Given the description of an element on the screen output the (x, y) to click on. 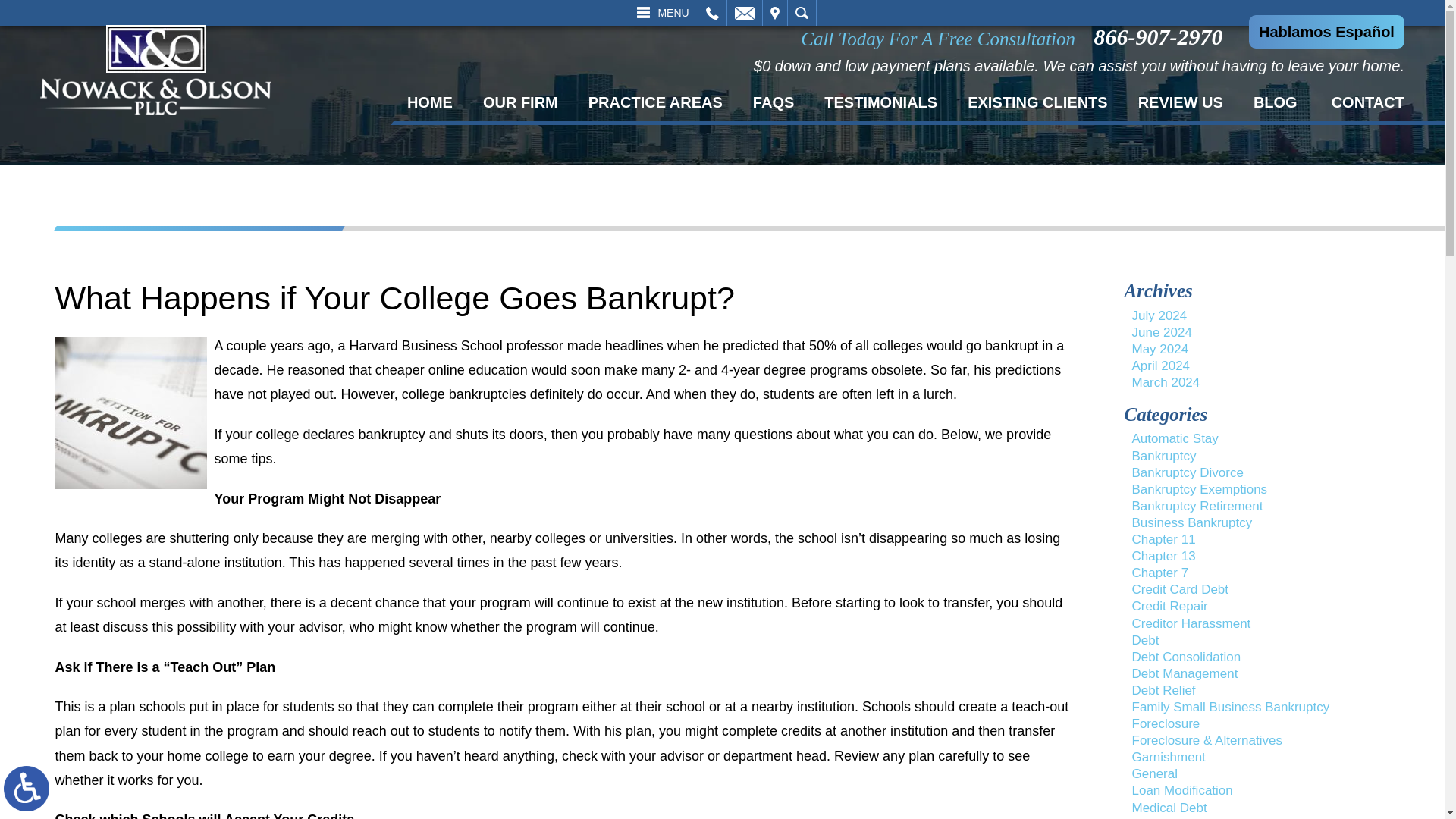
HOME (429, 101)
866-907-2970 (1162, 36)
PRACTICE AREAS (655, 101)
MENU (662, 12)
OUR FIRM (520, 101)
CALL (711, 12)
VISIT (774, 12)
EMAIL (743, 12)
SEARCH (801, 12)
Bankruptcy11 (130, 412)
